Given the description of an element on the screen output the (x, y) to click on. 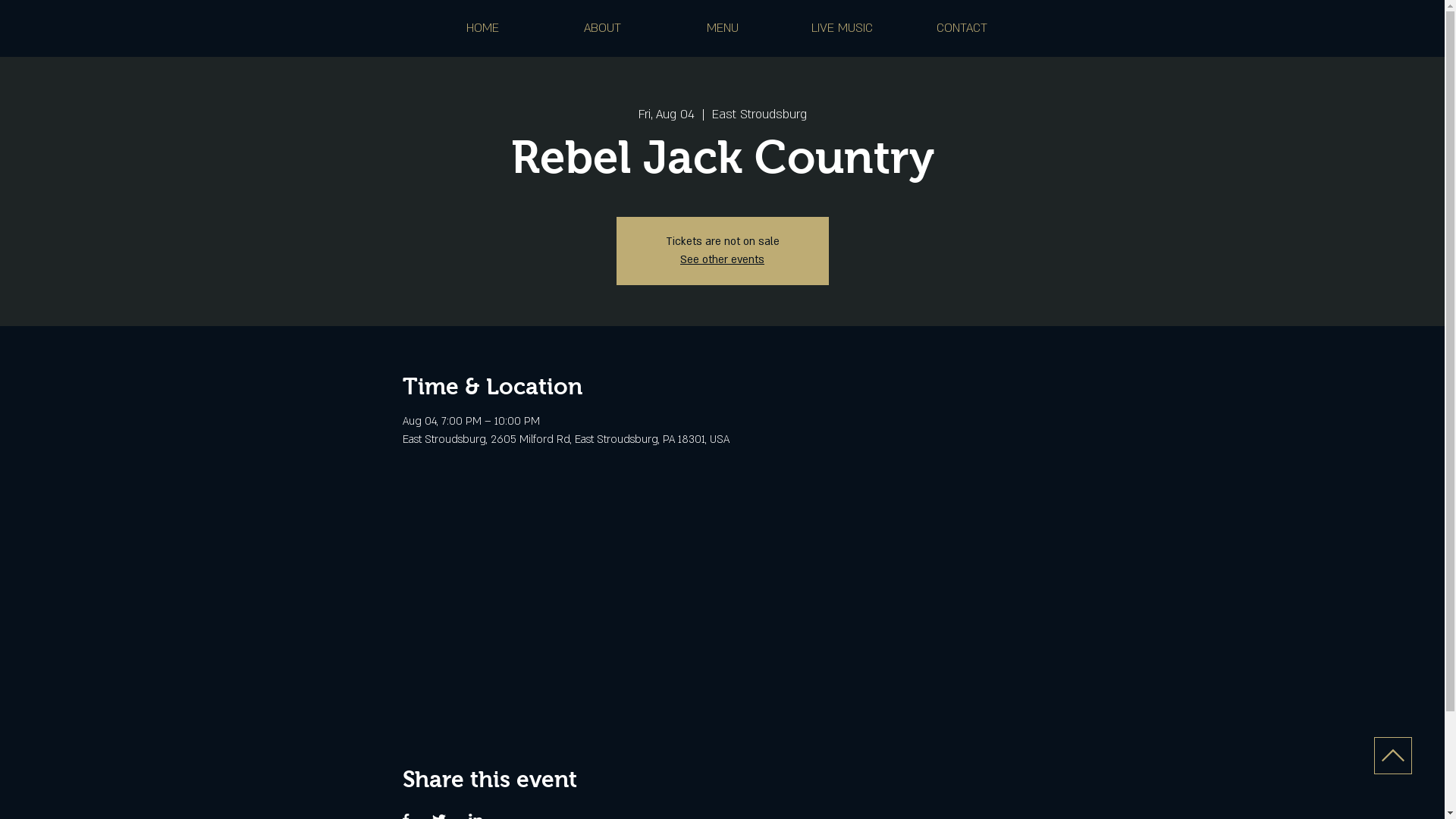
LIVE MUSIC Element type: text (842, 28)
ABOUT Element type: text (602, 28)
Map Element type: hover (722, 599)
HOME Element type: text (482, 28)
CONTACT Element type: text (961, 28)
MENU Element type: text (722, 28)
See other events Element type: text (722, 259)
